Given the description of an element on the screen output the (x, y) to click on. 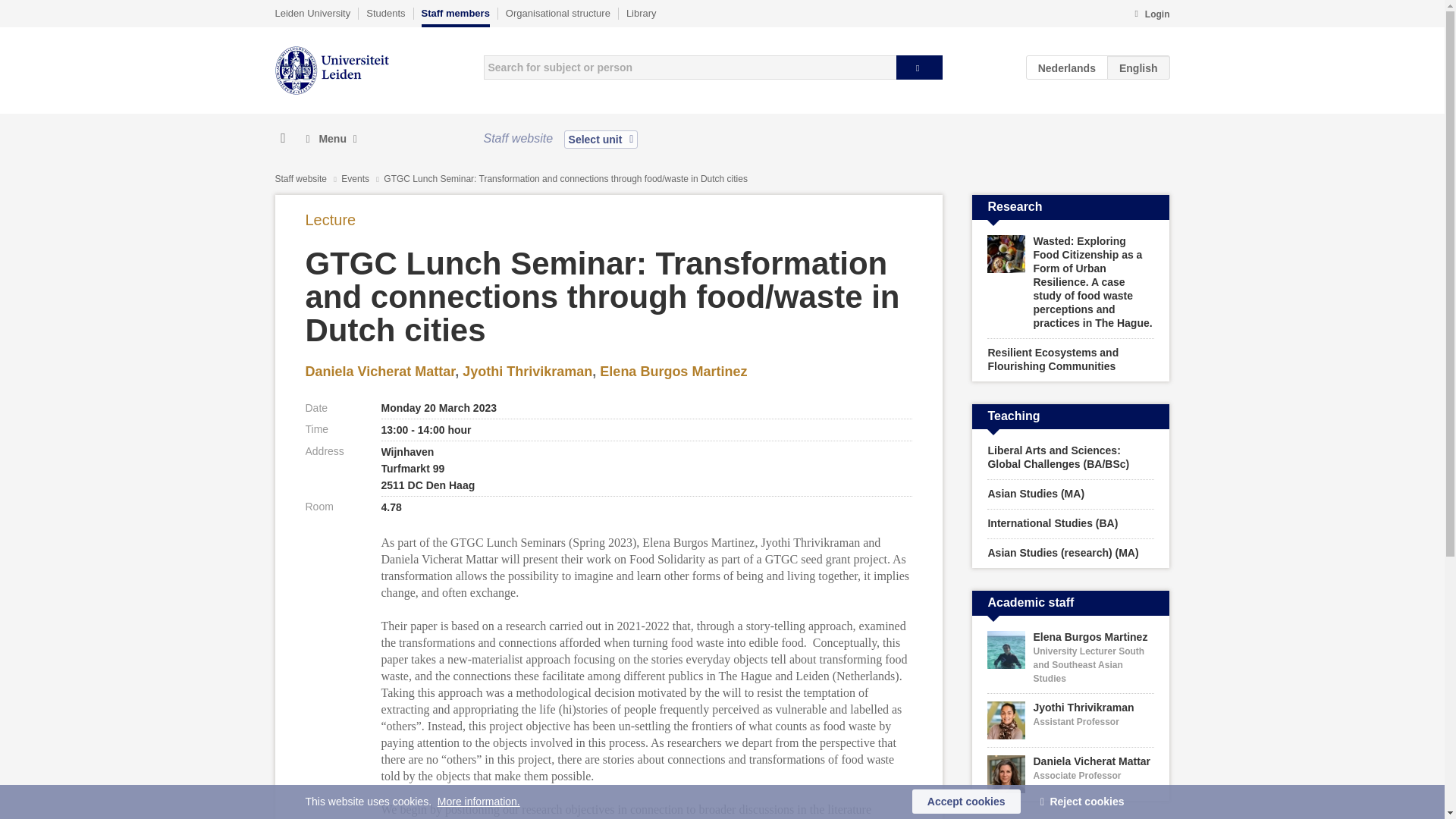
Daniela Vicherat Mattar (379, 371)
Resilient Ecosystems and Flourishing Communities (1070, 360)
Elena Burgos Martinez (672, 371)
Search (919, 67)
Staff website (300, 178)
Menu (330, 139)
Select unit (601, 139)
Organisational structure (557, 13)
Login (1151, 14)
